Given the description of an element on the screen output the (x, y) to click on. 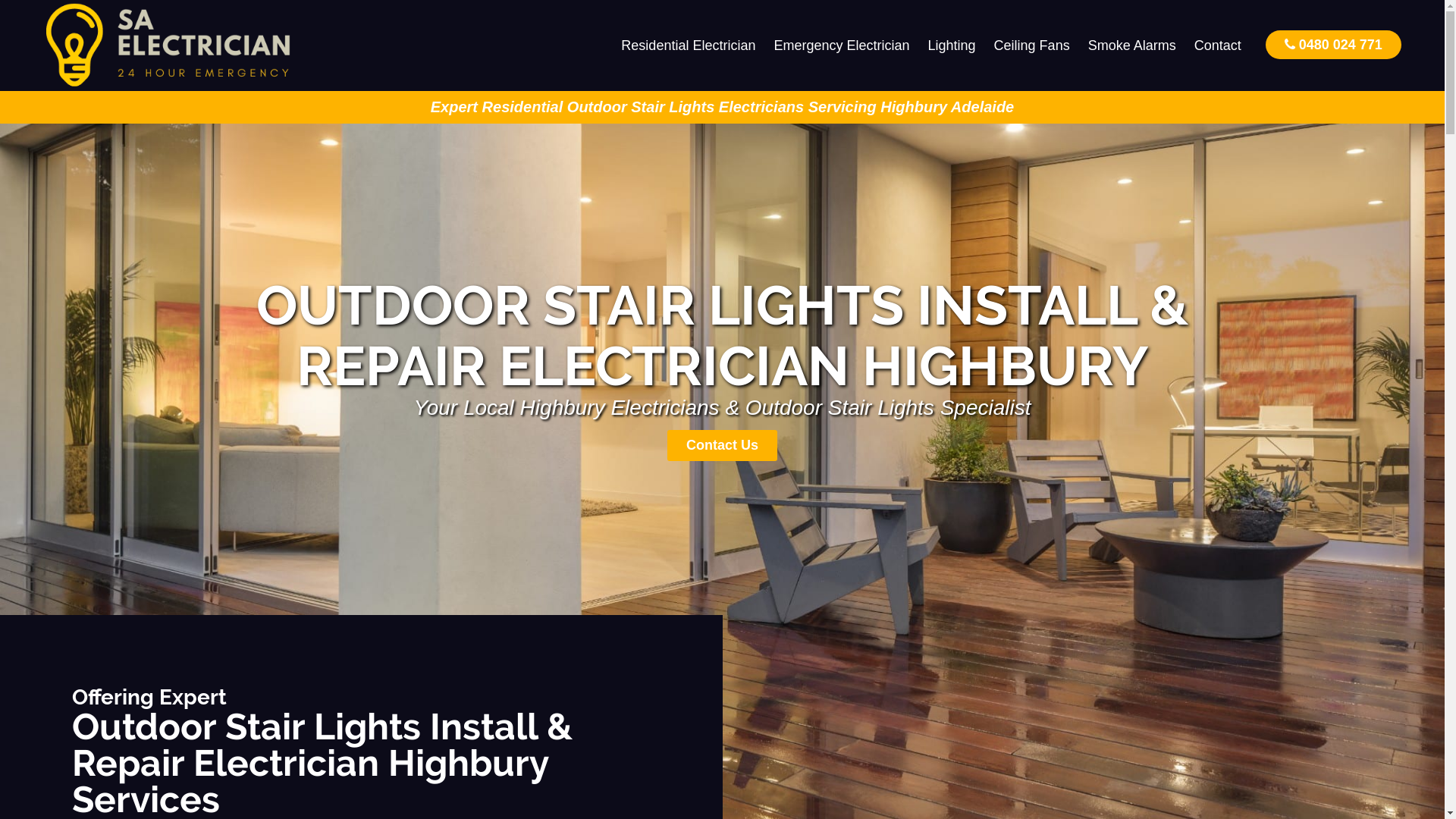
Contact Element type: text (1217, 45)
Lighting Element type: text (952, 45)
Emergency Electrician Element type: text (841, 45)
Smoke Alarms Element type: text (1132, 45)
Residential Electrician Element type: text (687, 45)
0480 024 771 Element type: text (1333, 44)
Ceiling Fans Element type: text (1032, 45)
Contact Us Element type: text (722, 445)
